Given the description of an element on the screen output the (x, y) to click on. 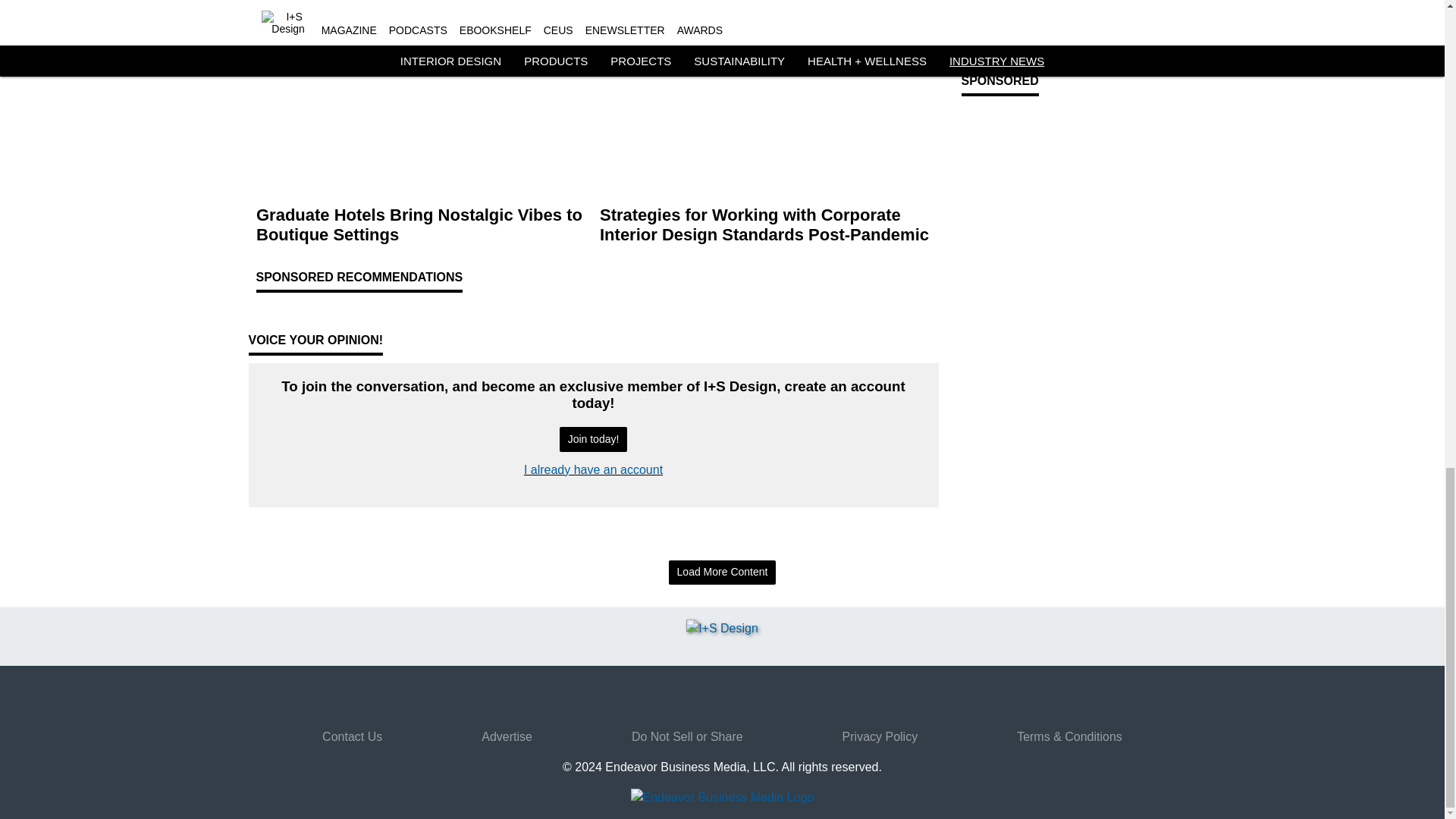
Join today! (593, 439)
I already have an account (593, 469)
Graduate Hotels Bring Nostalgic Vibes to Boutique Settings (422, 224)
